Given the description of an element on the screen output the (x, y) to click on. 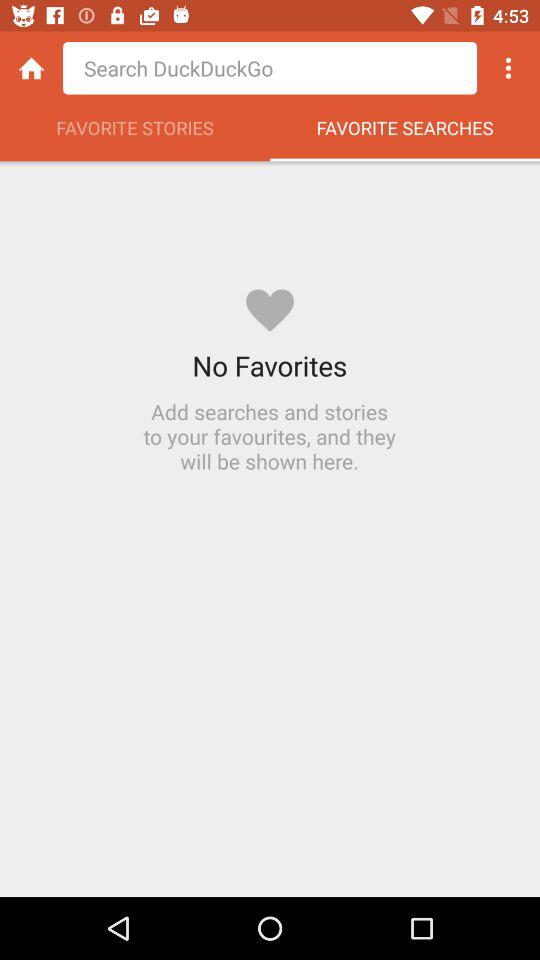
click the item next to favorite searches icon (135, 133)
